Given the description of an element on the screen output the (x, y) to click on. 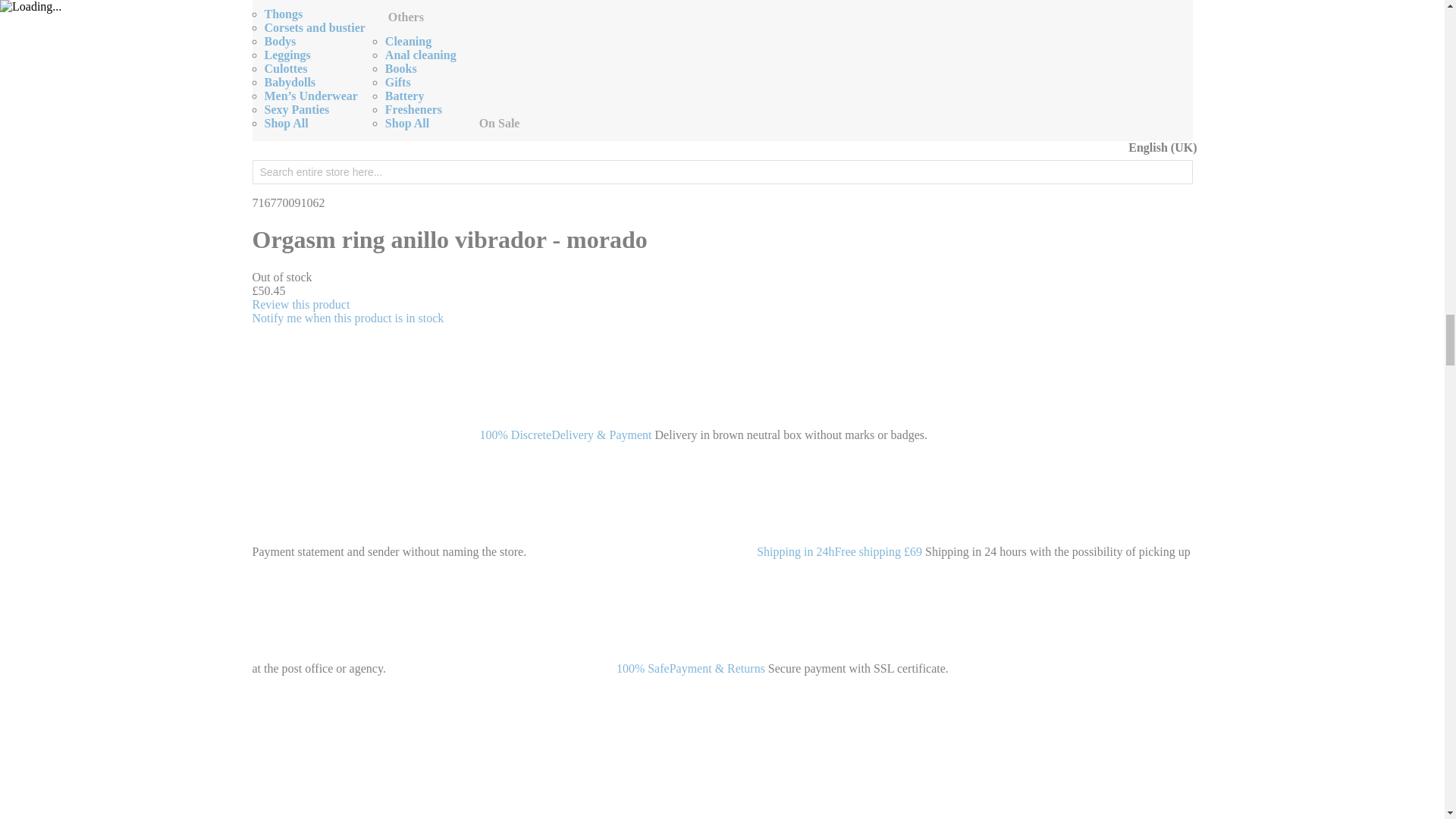
Availability (721, 277)
Notify me when this product is in stock (347, 318)
